Given the description of an element on the screen output the (x, y) to click on. 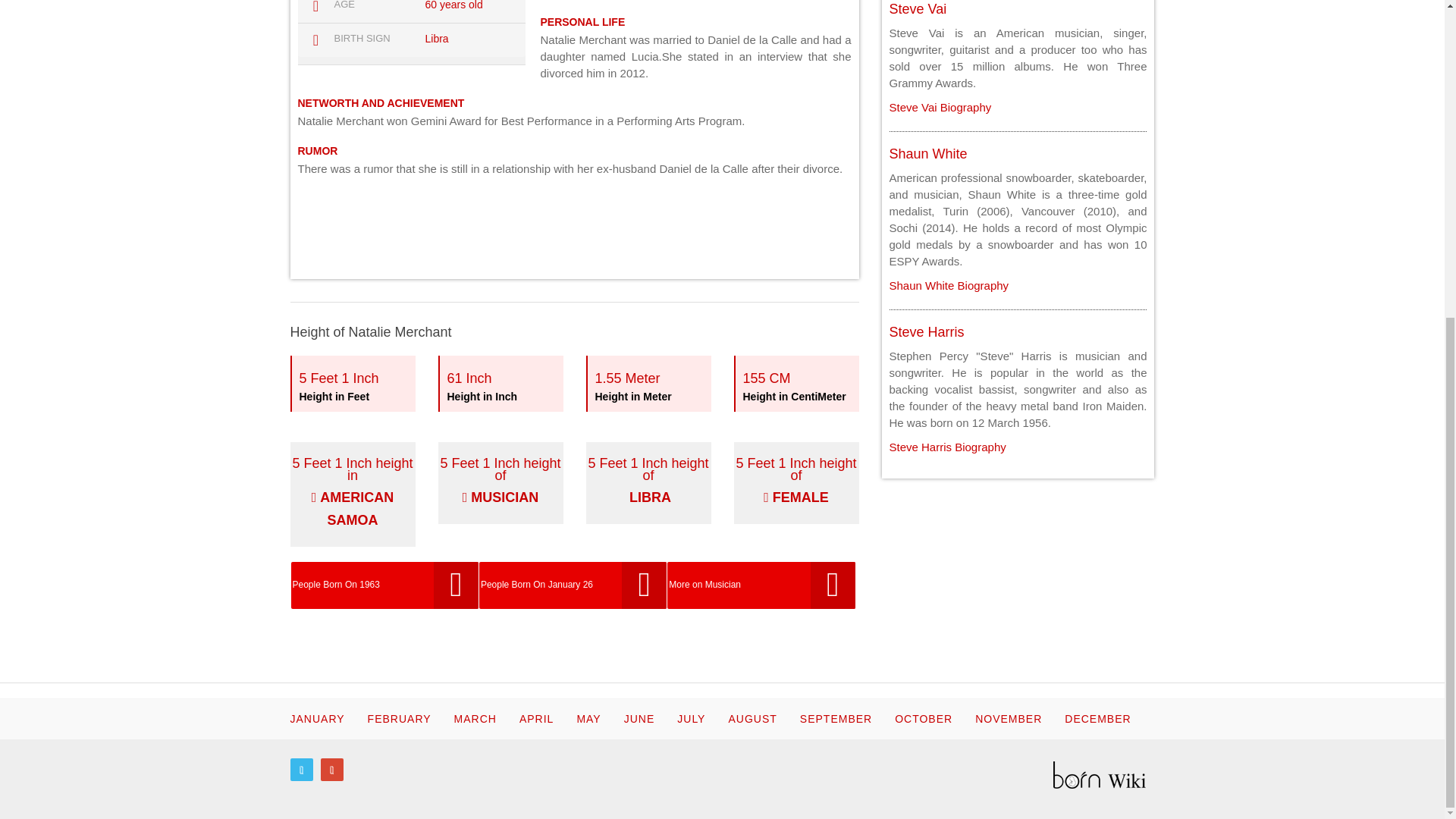
Steve Vai (917, 8)
Advertisement (574, 226)
Shaun White Biography (500, 383)
Steve Harris (948, 285)
Libra (947, 446)
Steve Vai (436, 38)
People Born On January 26 (647, 383)
Steve Vai Biography (917, 8)
